Given the description of an element on the screen output the (x, y) to click on. 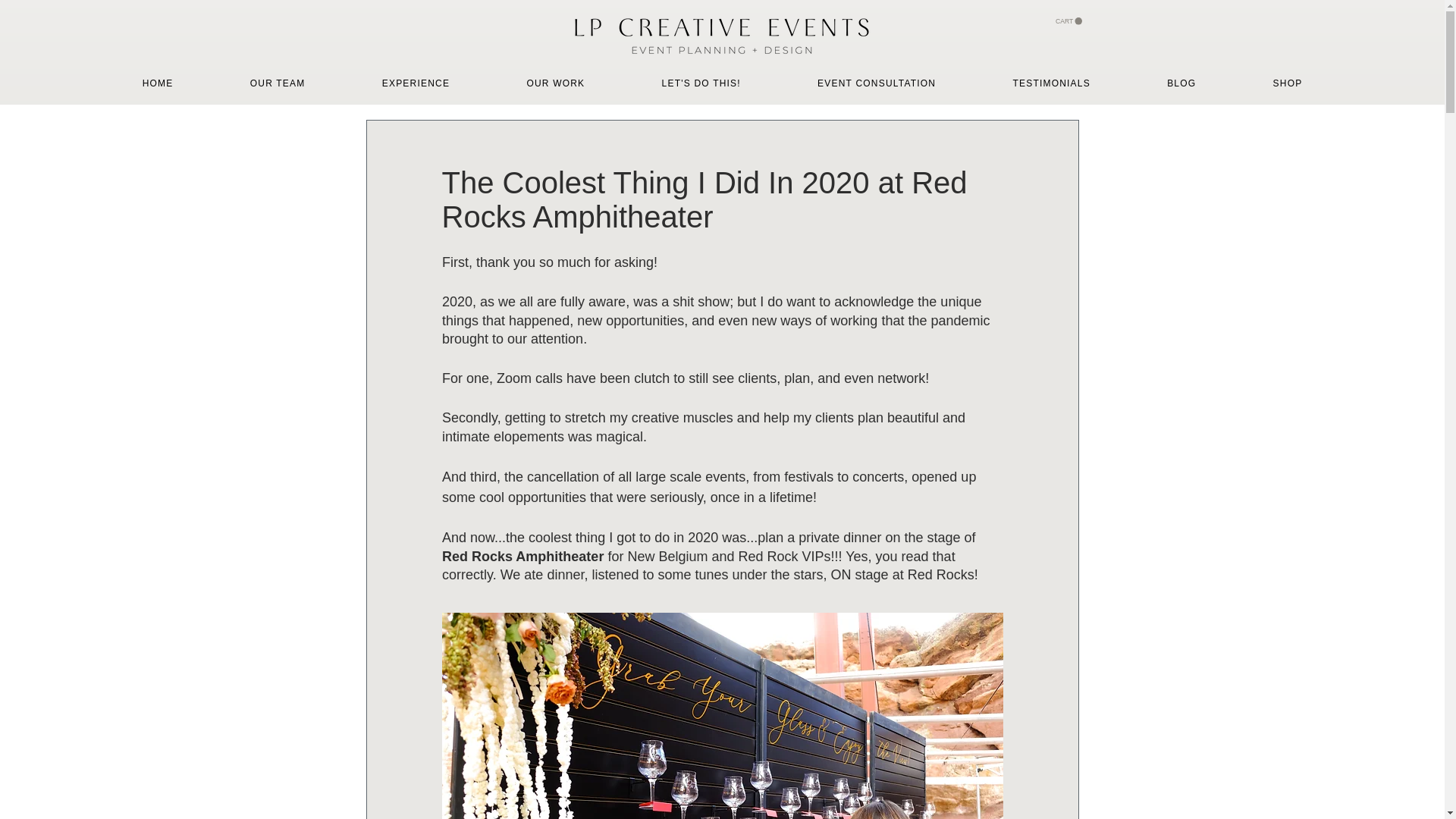
BLOG (1181, 83)
SHOP (1287, 83)
HOME (157, 83)
LET'S DO THIS! (701, 83)
OUR TEAM (277, 83)
EVENT CONSULTATION (876, 83)
CART (1068, 21)
CART (1068, 21)
OUR WORK (556, 83)
EXPERIENCE (415, 83)
TESTIMONIALS (1050, 83)
